Given the description of an element on the screen output the (x, y) to click on. 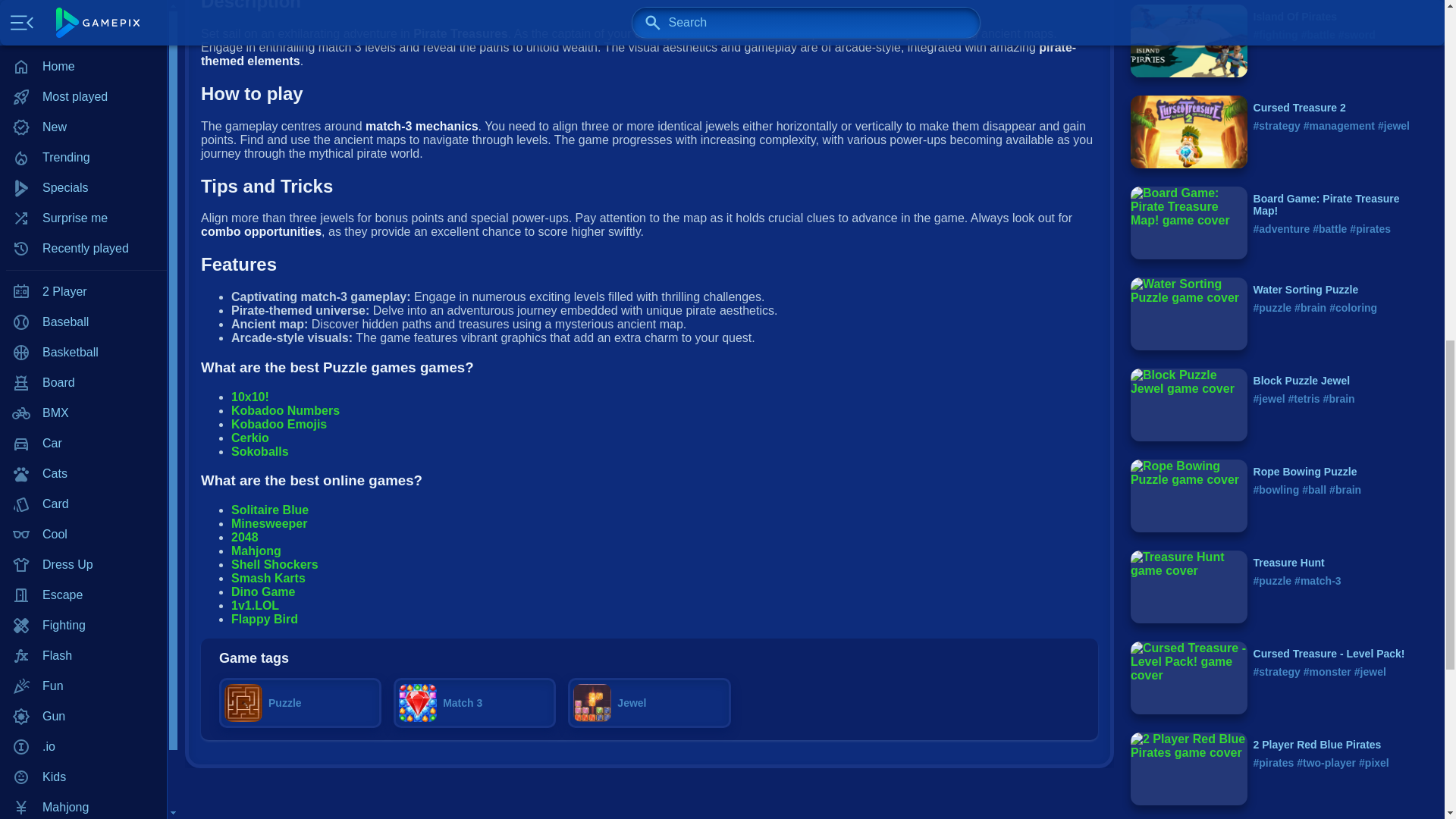
Racing (83, 140)
Shooter (83, 200)
Zombie (83, 382)
Mahjong (83, 2)
Mario (83, 19)
Soccer (83, 291)
Poker (83, 79)
Snake (83, 261)
RPG (83, 170)
Word (83, 352)
